Given the description of an element on the screen output the (x, y) to click on. 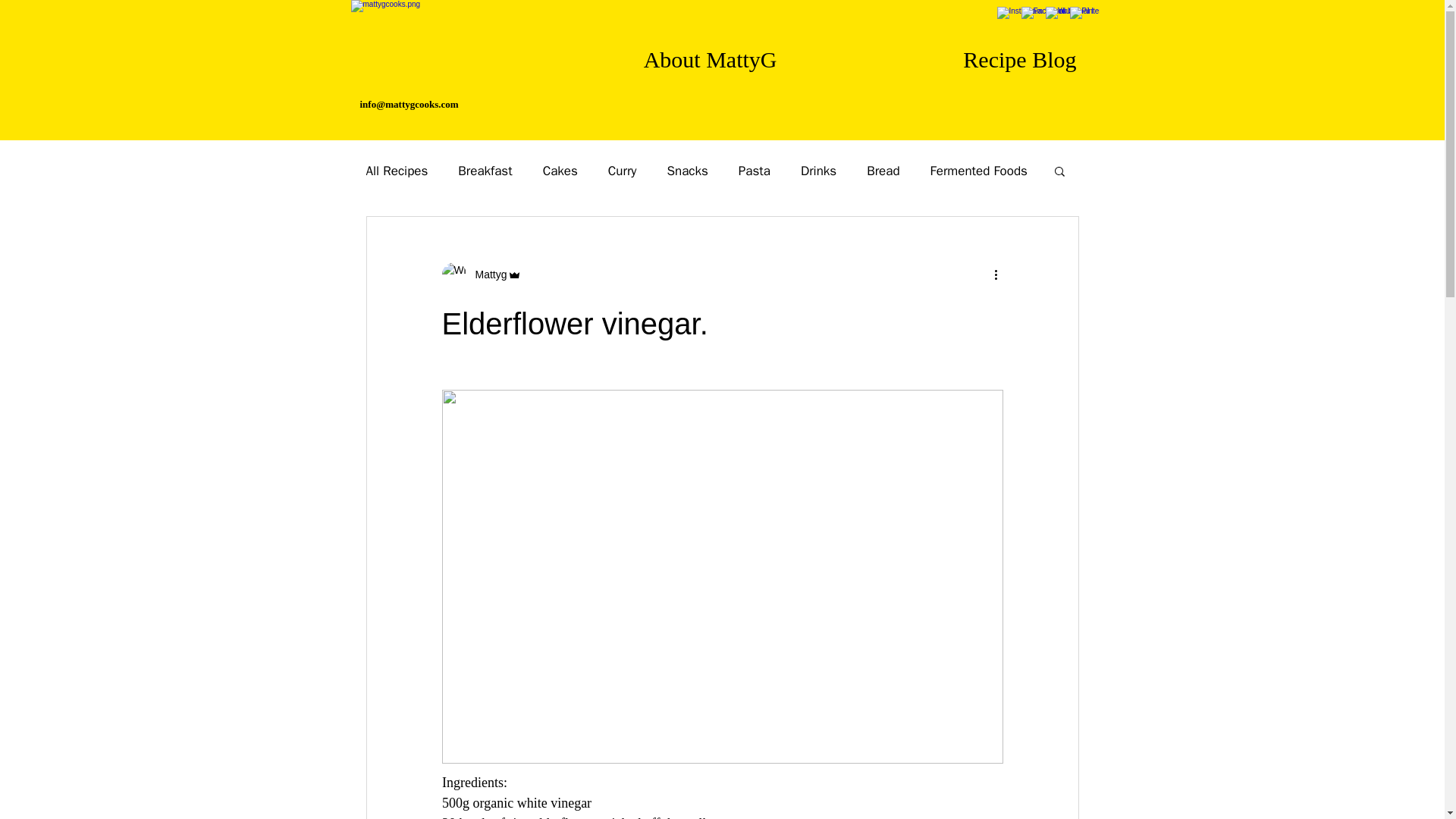
Cakes (560, 170)
Recipe Blog (938, 55)
Curry (622, 170)
Snacks (686, 170)
All Recipes (396, 170)
Mattyg (481, 274)
Fermented Foods (978, 170)
Pasta (754, 170)
About MattyG (627, 55)
Breakfast (485, 170)
Drinks (817, 170)
Bread (882, 170)
Mattyg (485, 274)
